Given the description of an element on the screen output the (x, y) to click on. 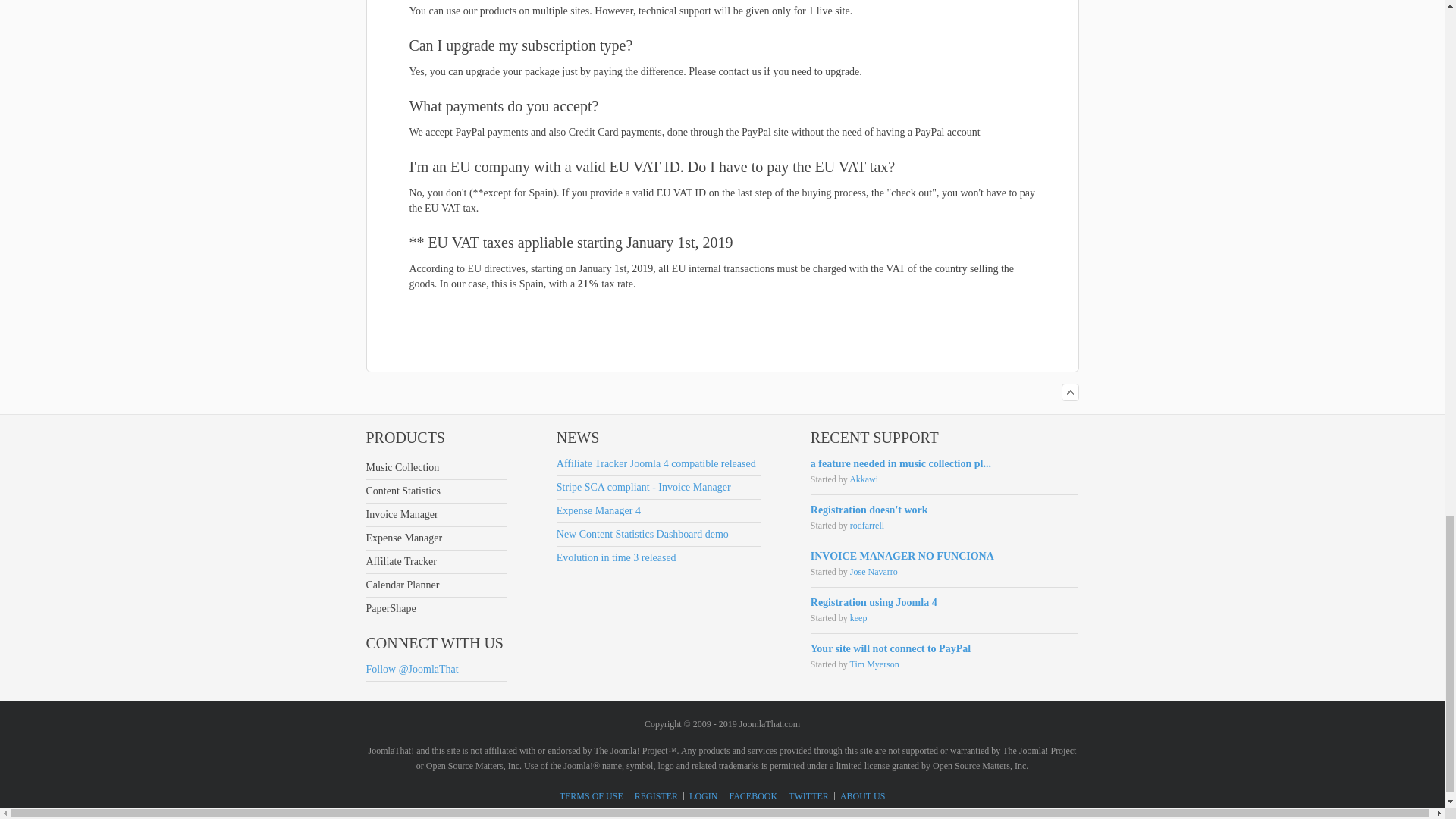
Content Statistics (435, 490)
Expense Manager (435, 538)
Invoice Manager (435, 514)
Music Collection (435, 467)
